Given the description of an element on the screen output the (x, y) to click on. 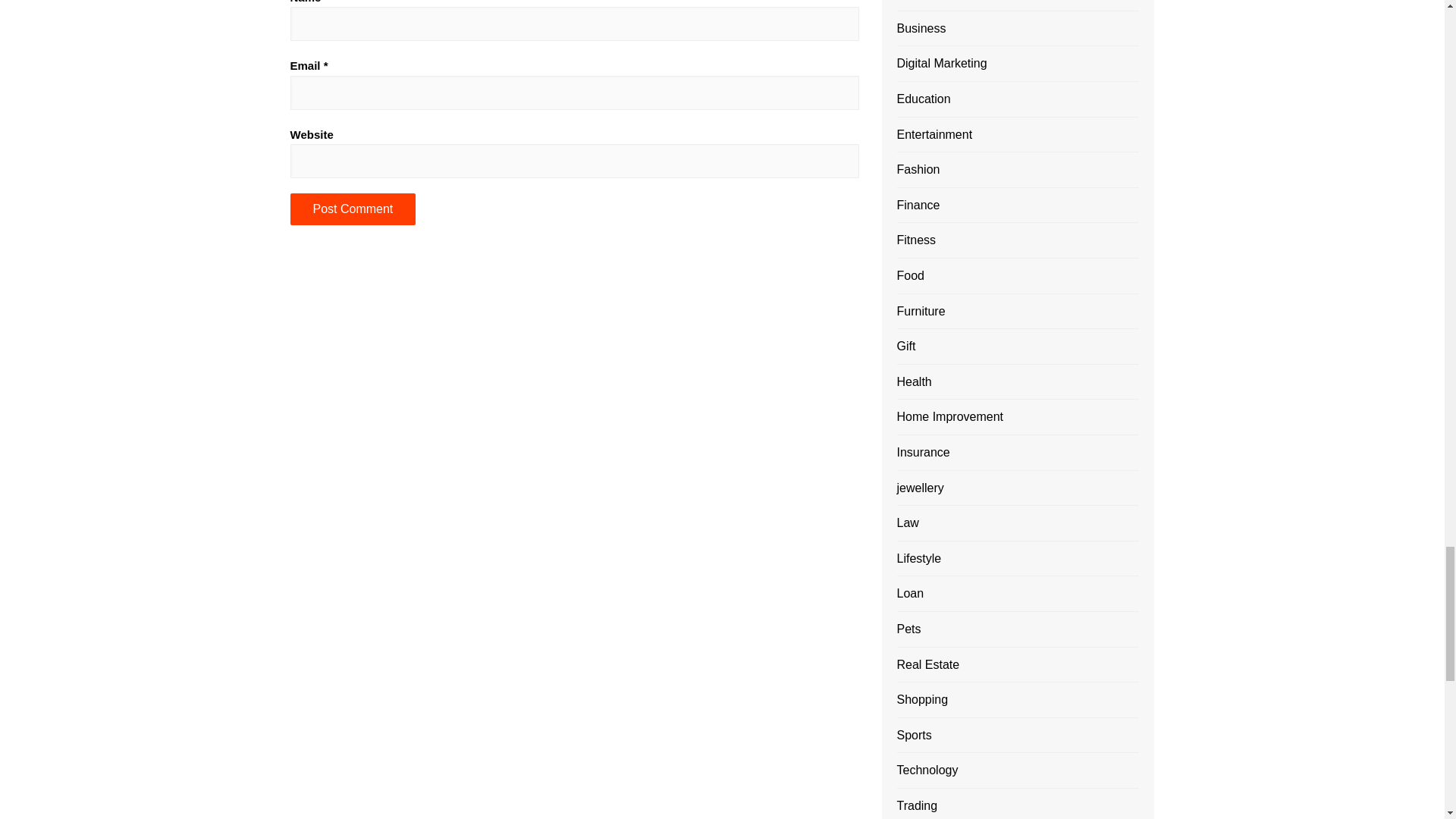
Post Comment (351, 209)
